Given the description of an element on the screen output the (x, y) to click on. 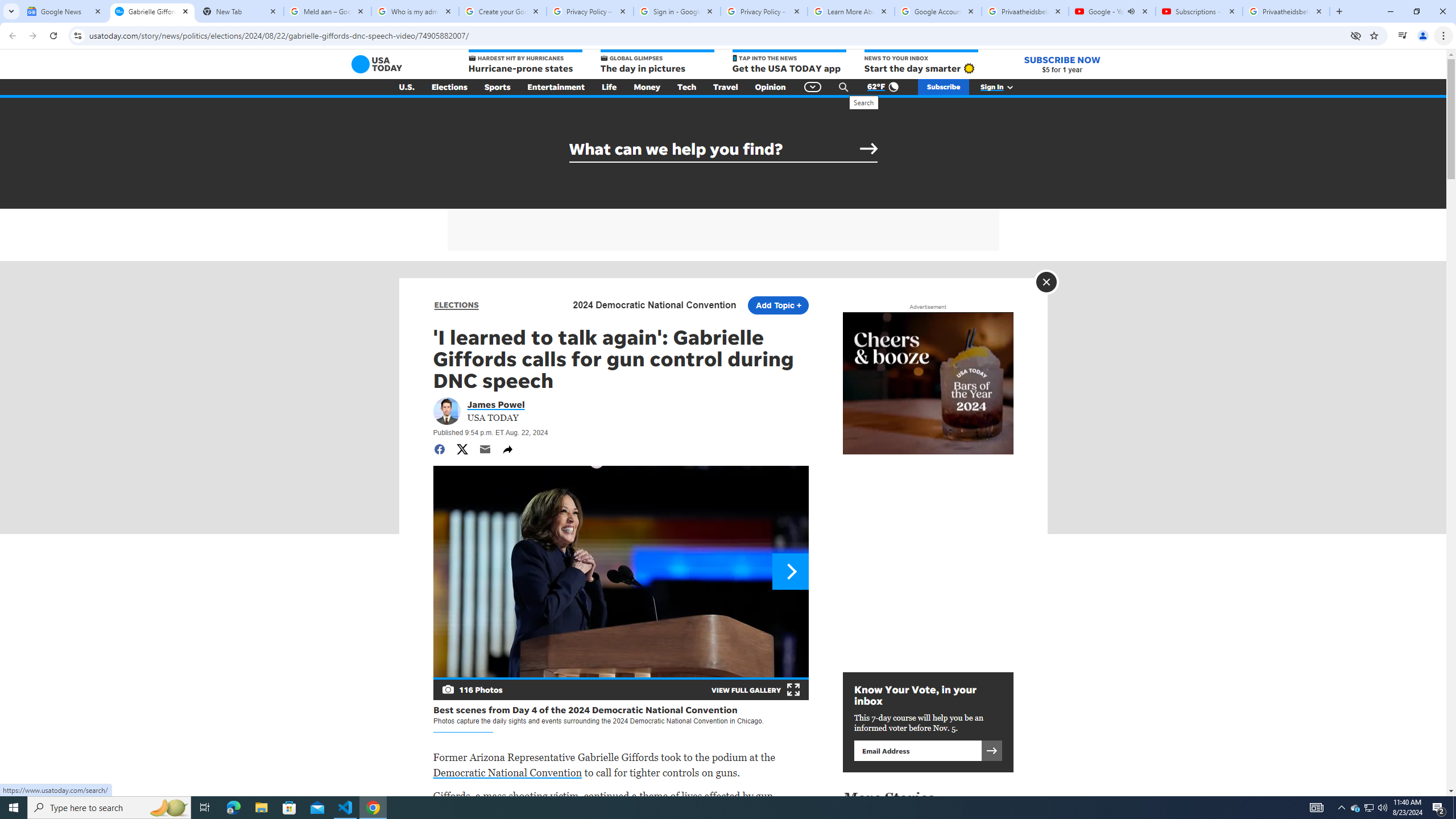
Entertainment (556, 87)
Google Account (938, 11)
Global Navigation (812, 87)
Opinion (770, 87)
